Given the description of an element on the screen output the (x, y) to click on. 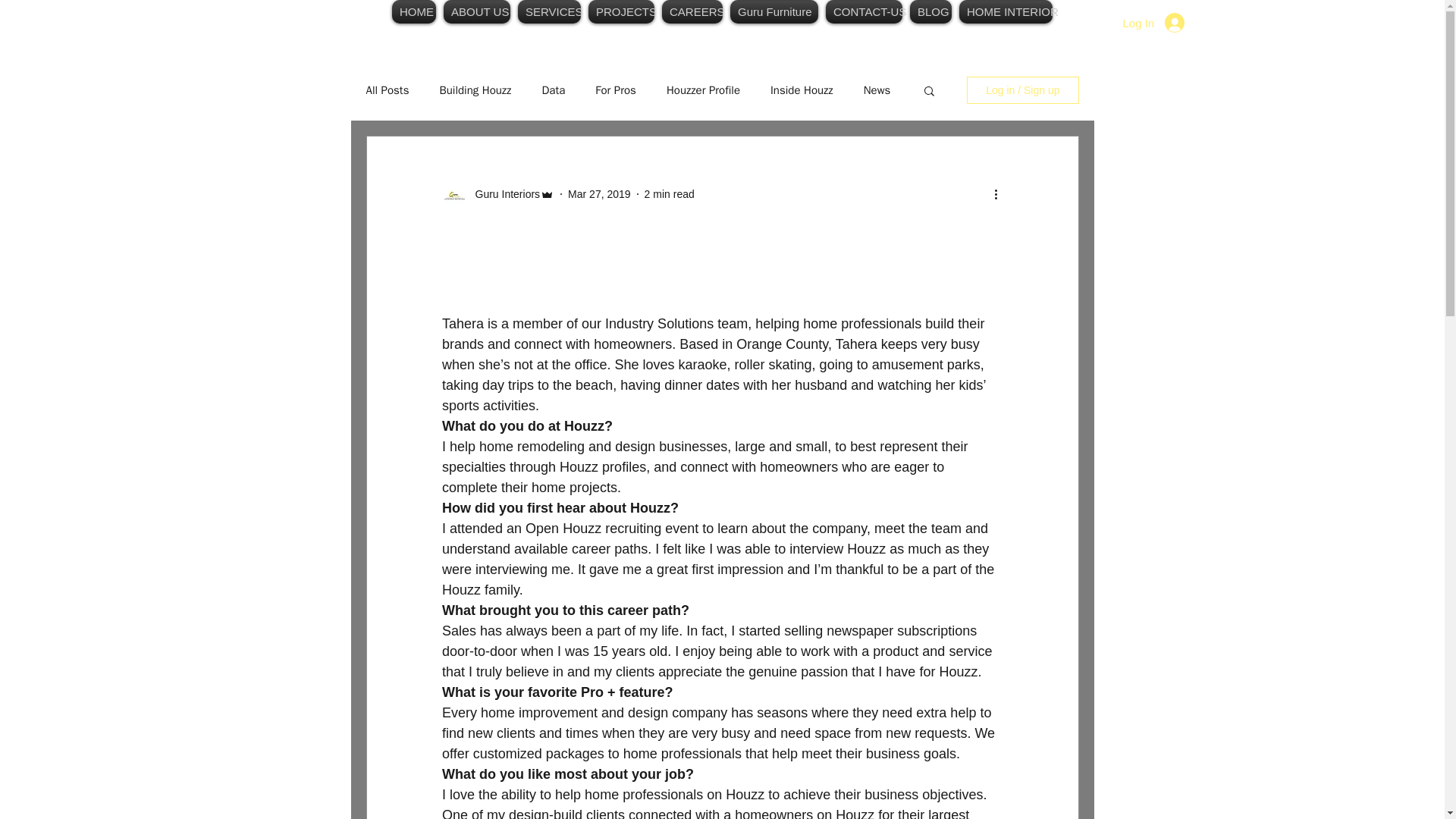
Houzzer Profile (702, 90)
2 min read (669, 193)
Inside Houzz (801, 90)
All Posts (387, 90)
SERVICES (549, 11)
For Pros (615, 90)
Guru Furniture (774, 11)
CAREERS (692, 11)
Data (552, 90)
PROJECTS (621, 11)
